Given the description of an element on the screen output the (x, y) to click on. 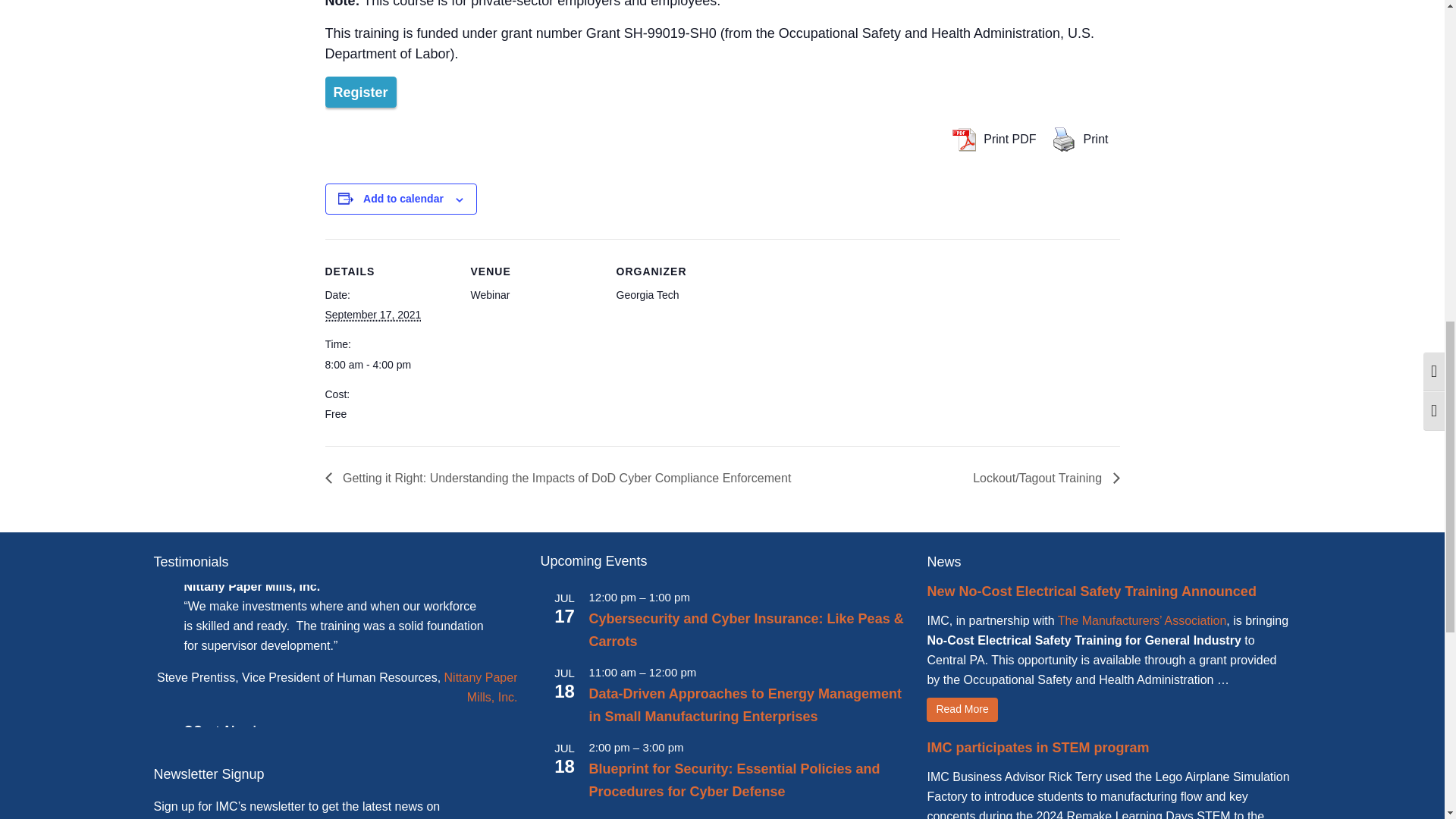
2021-09-17 (372, 314)
2021-09-17 (387, 364)
